Given the description of an element on the screen output the (x, y) to click on. 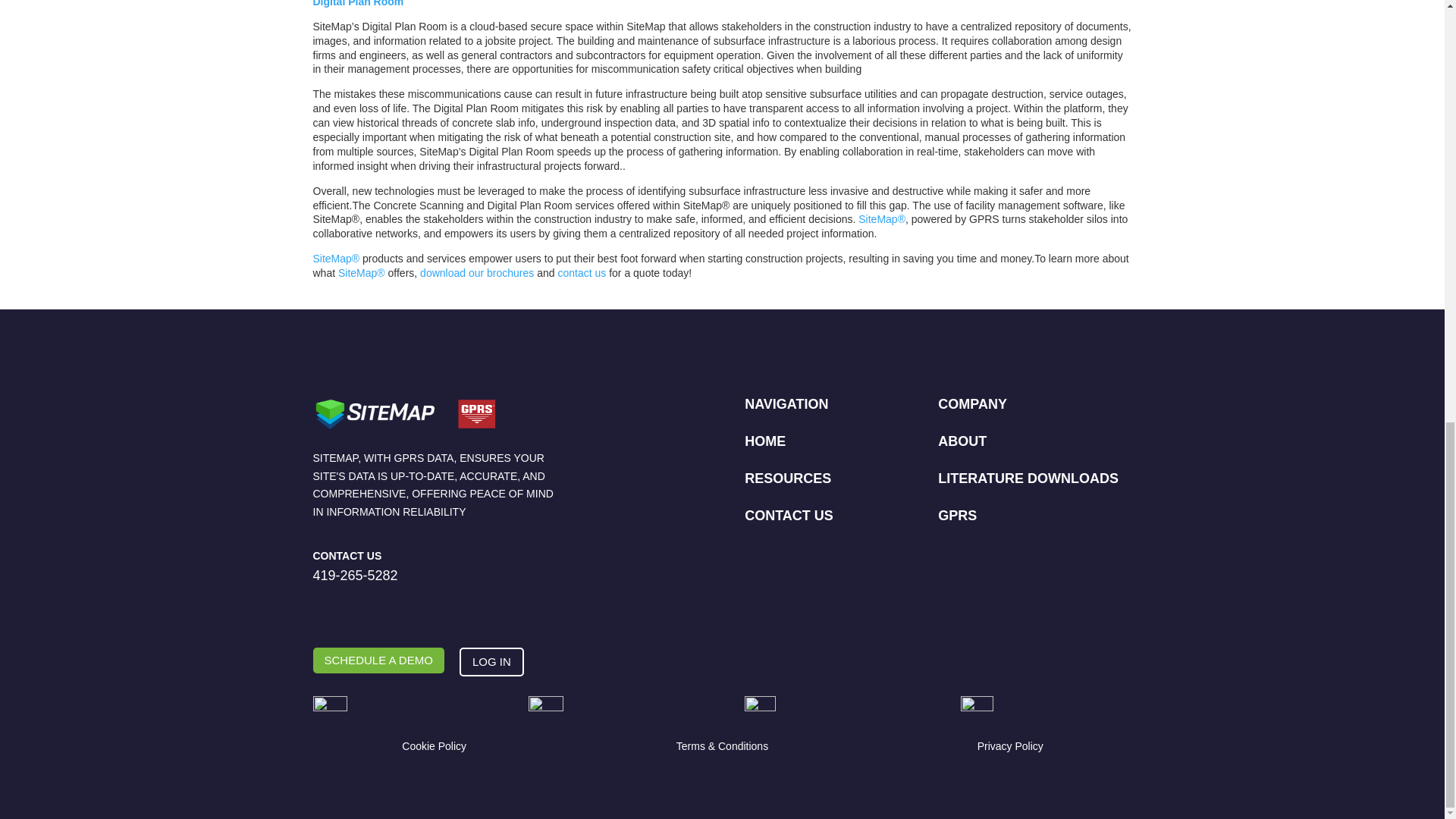
HOME (765, 441)
ABOUT (962, 441)
419-265-5282 (355, 575)
download our brochures (477, 272)
contact us (581, 272)
LOG IN (492, 662)
youtube small (545, 714)
LITERATURE DOWNLOADS (1027, 478)
SCHEDULE A DEMO (378, 660)
GPRS (956, 515)
